Given the description of an element on the screen output the (x, y) to click on. 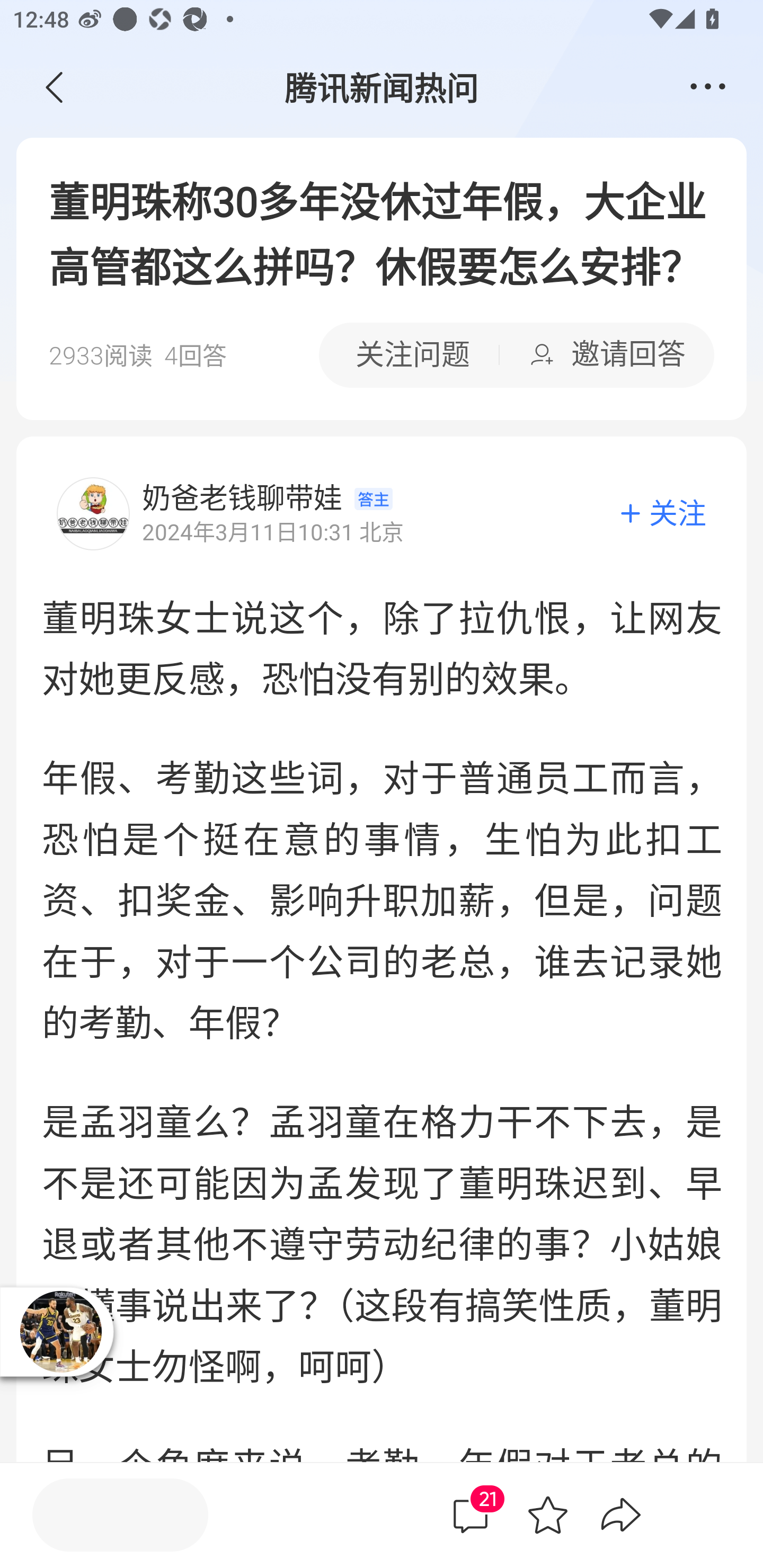
 返回 (54, 87)
 更多 (707, 87)
关注问题 (408, 355)
 邀请回答 (606, 355)
奶爸老钱聊带娃 (241, 498)
 关注 (662, 514)
2024年3月11日10:31 北京 (272, 532)
播放器 (60, 1331)
 收藏 (547, 1514)
 分享 (620, 1514)
 21 21评论 (472, 1515)
